Given the description of an element on the screen output the (x, y) to click on. 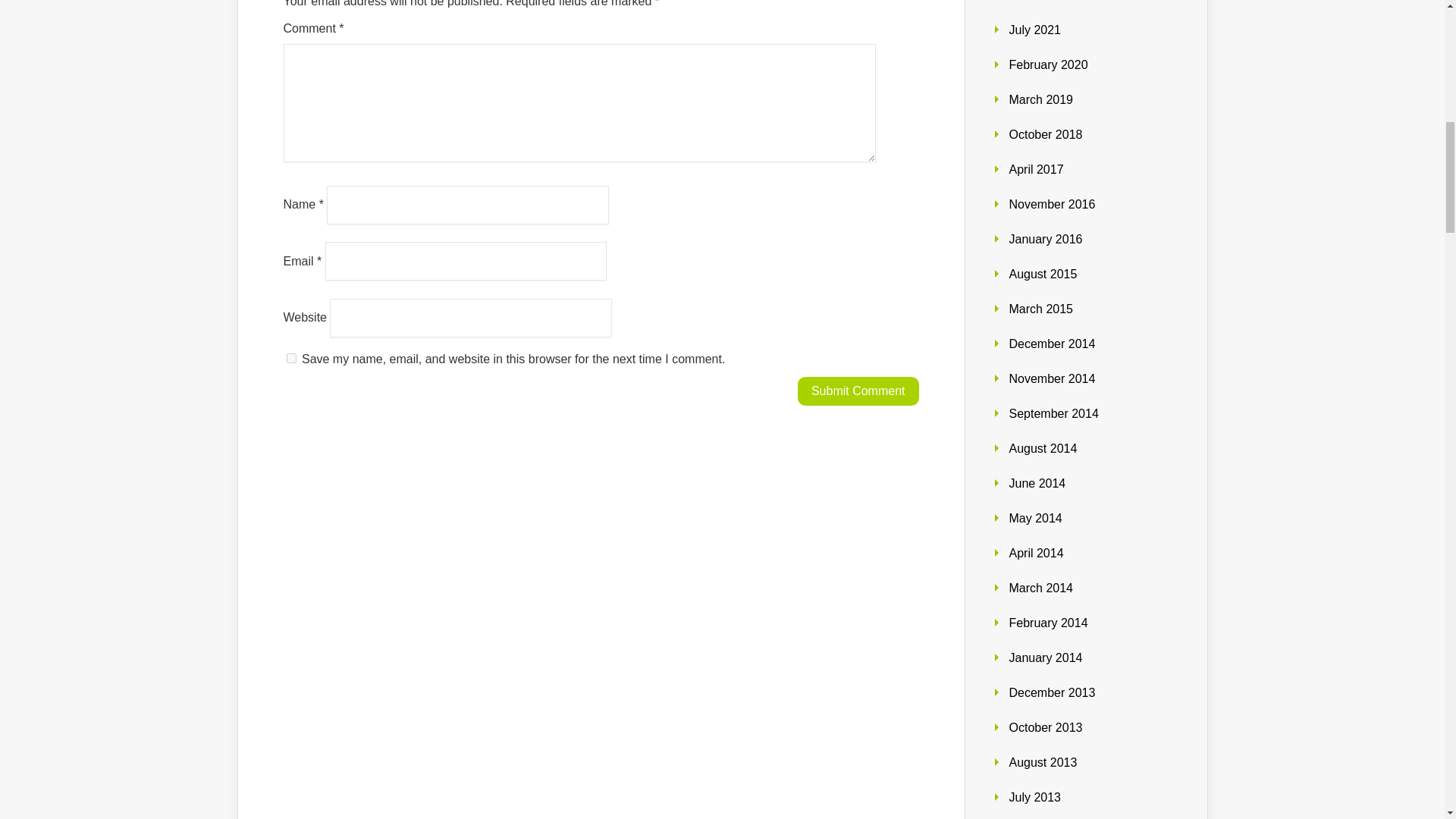
yes (291, 357)
Submit Comment (857, 390)
Submit Comment (857, 390)
